Given the description of an element on the screen output the (x, y) to click on. 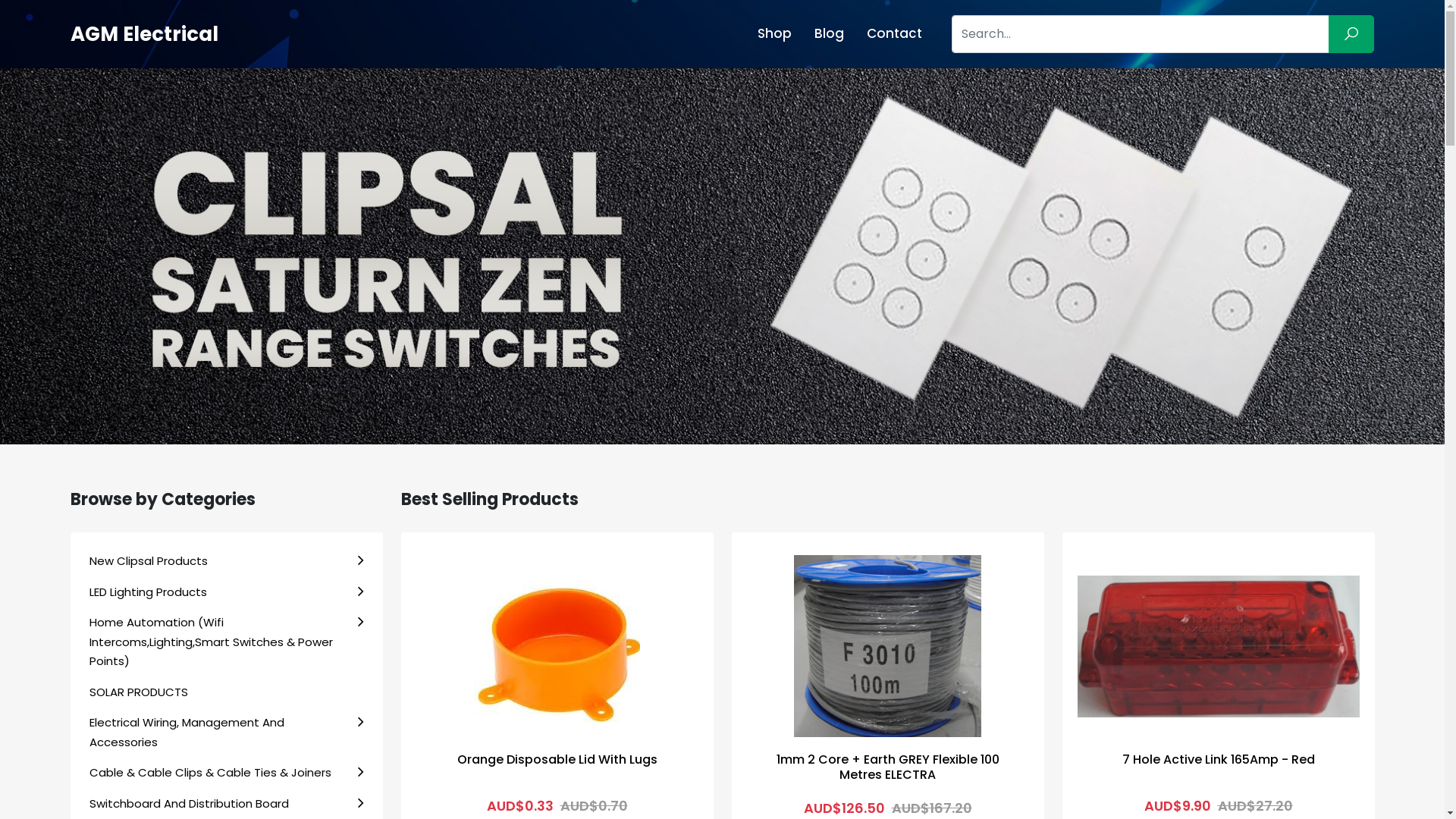
Contact Element type: text (894, 33)
SOLAR PRODUCTS Element type: text (226, 692)
Blog Element type: text (829, 33)
LED Lighting Products Element type: text (226, 592)
Orange Disposable Lid With Lugs Element type: hover (556, 646)
1mm 2 Core + Earth GREY Flexible 100 Metres ELECTRA Element type: text (887, 766)
AGM Electrical Element type: text (143, 33)
7 Hole Active Link 165Amp - Red Element type: text (1218, 759)
Orange Disposable Lid With Lugs Element type: text (556, 759)
Switchboard And Distribution Board Element type: text (226, 803)
Electrical Wiring, Management And Accessories Element type: text (226, 731)
Cable & Cable Clips & Cable Ties & Joiners Element type: text (226, 772)
Shop Element type: text (774, 33)
1mm 2 Core + Earth GREY Flexible 100 Metres ELECTRA Element type: hover (886, 646)
New Clipsal Products Element type: text (226, 561)
7 Hole Active Link 165Amp - Red Element type: hover (1217, 646)
